Given the description of an element on the screen output the (x, y) to click on. 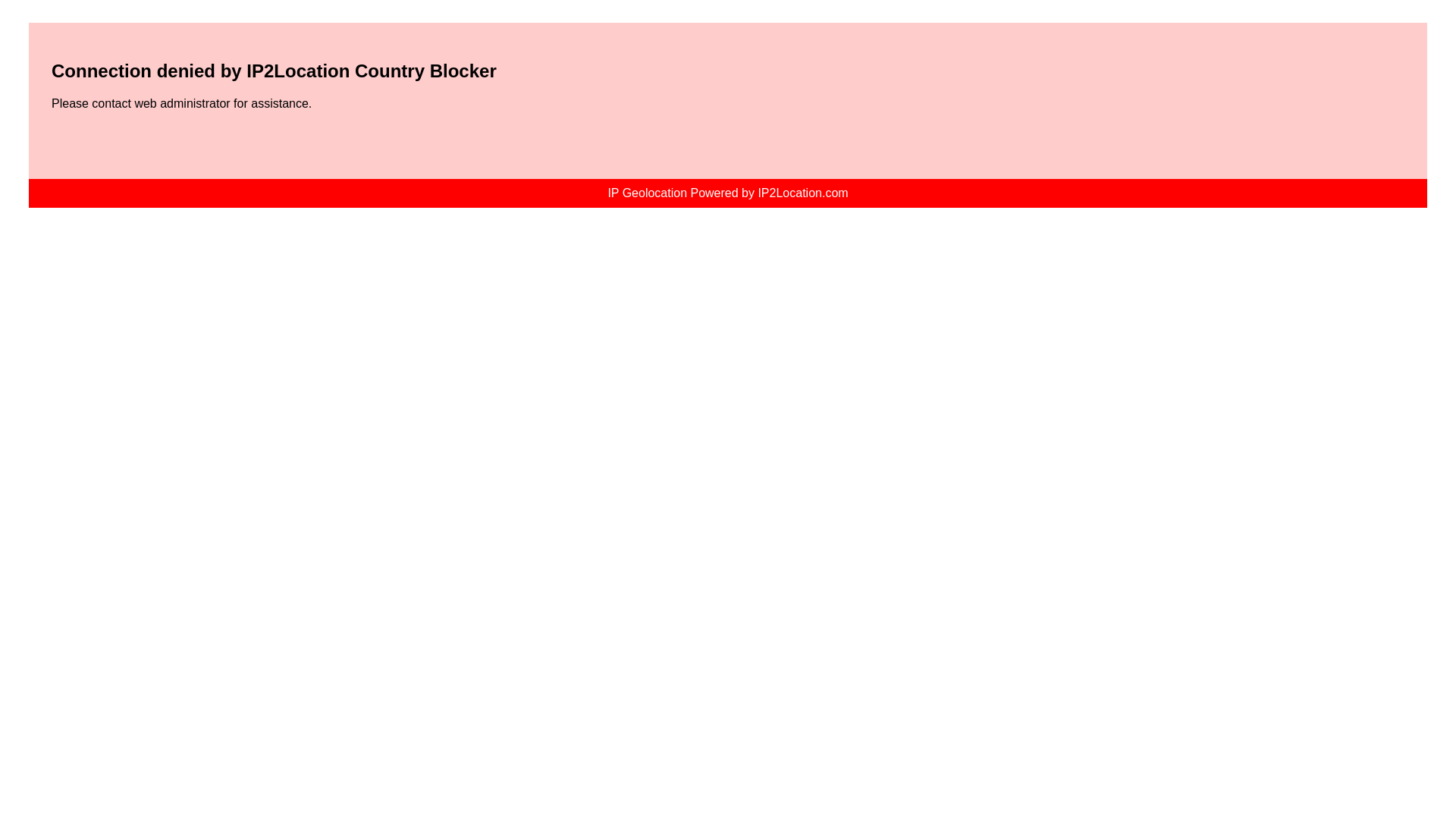
IP Geolocation Powered by IP2Location.com (727, 192)
